Given the description of an element on the screen output the (x, y) to click on. 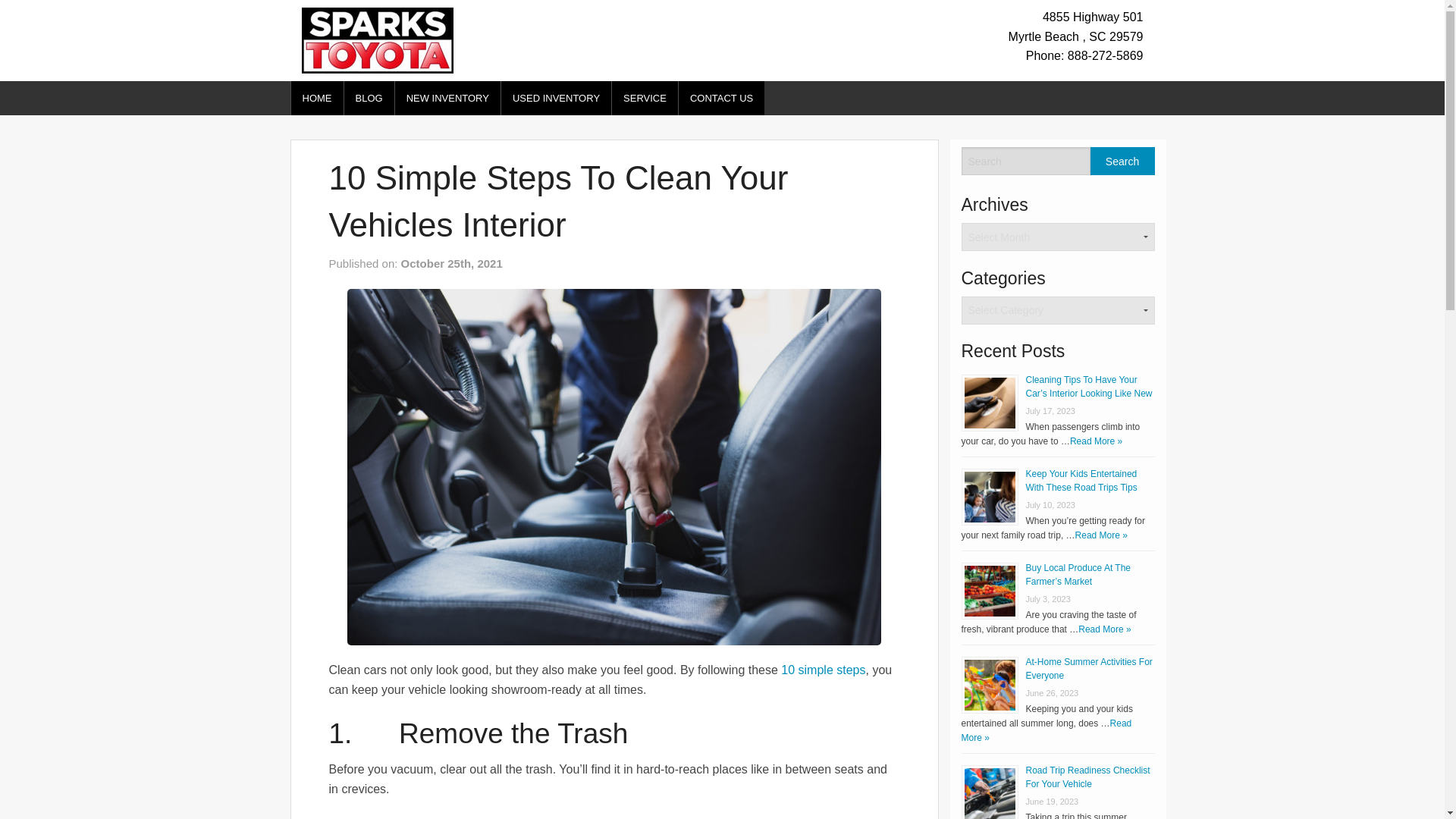
Road Trip Readiness Checklist For Your Vehicle (1087, 776)
Keep Your Kids Entertained With These Road Trips Tips (1081, 480)
BLOG (368, 98)
CONTACT US (721, 98)
Sparks Toyota (376, 39)
Search (1122, 161)
USED INVENTORY (555, 98)
SERVICE (644, 98)
Search (1122, 161)
HOME (317, 98)
NEW INVENTORY (447, 98)
10 simple steps (822, 669)
At-Home Summer Activities For Everyone (1088, 668)
